Given the description of an element on the screen output the (x, y) to click on. 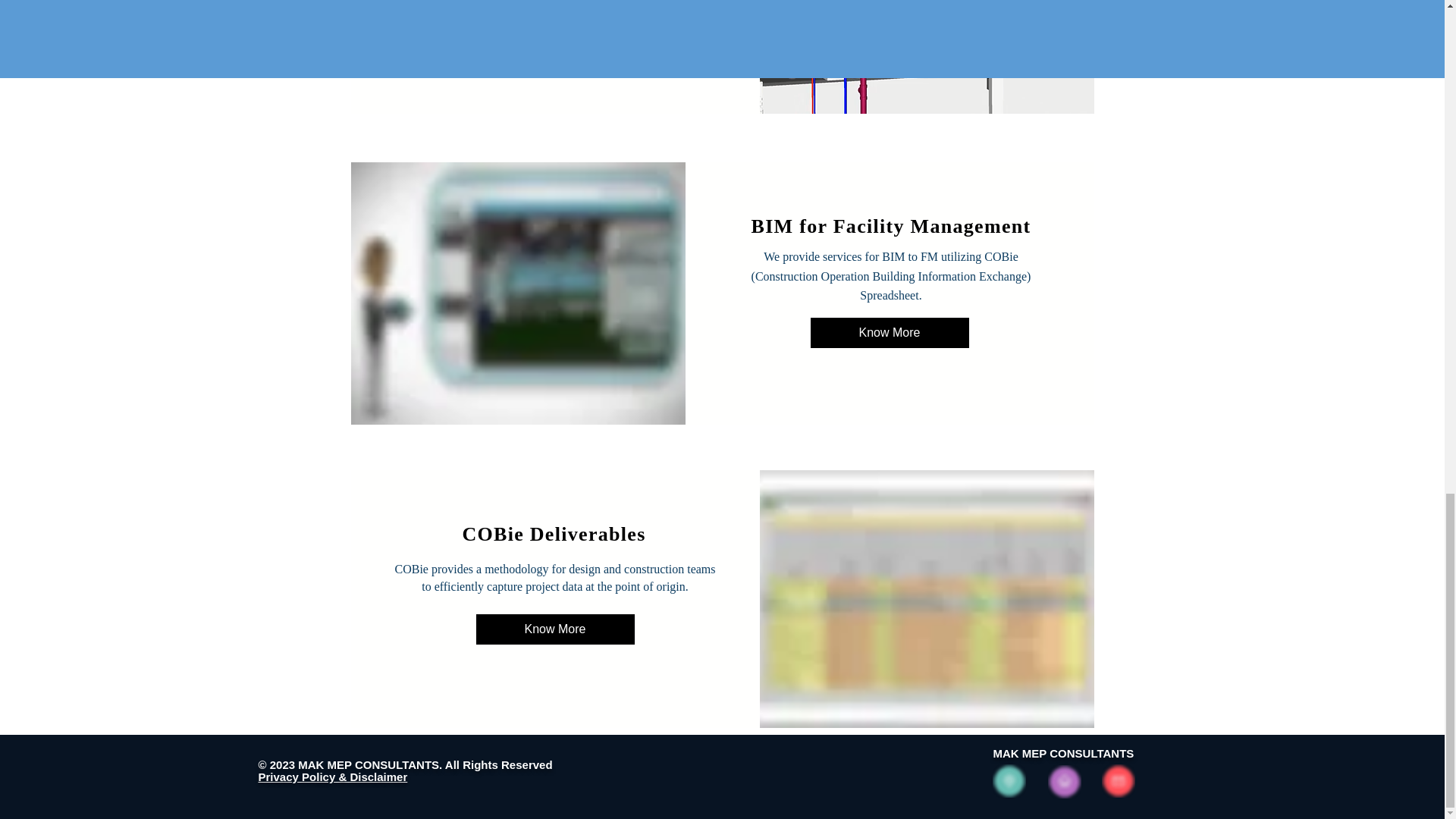
MAK MEP CONSULTANTS (1063, 753)
Know More (888, 332)
Know More (555, 629)
Know More (555, 15)
